Given the description of an element on the screen output the (x, y) to click on. 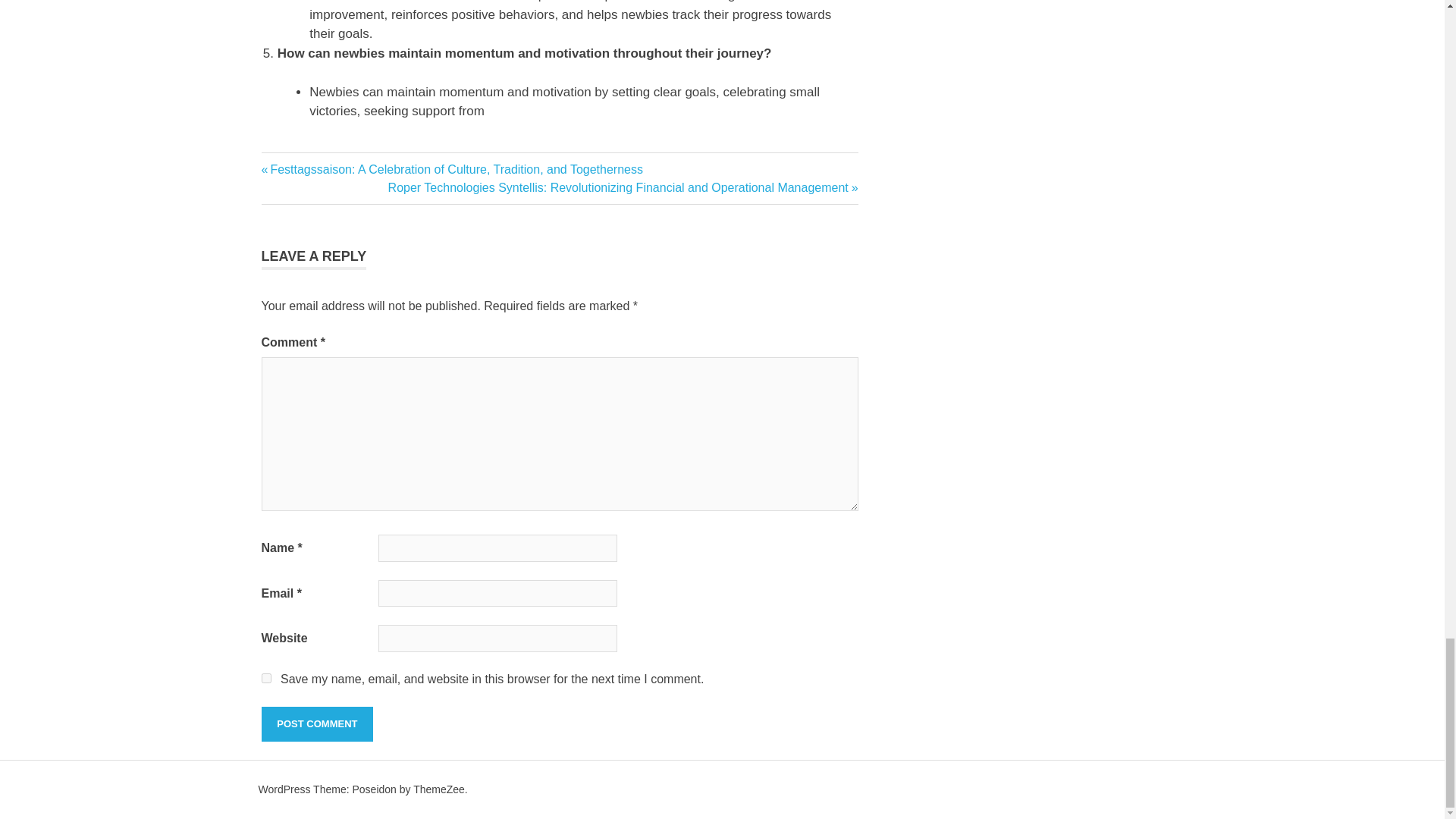
Post Comment (316, 724)
Post Comment (316, 724)
yes (265, 678)
